Given the description of an element on the screen output the (x, y) to click on. 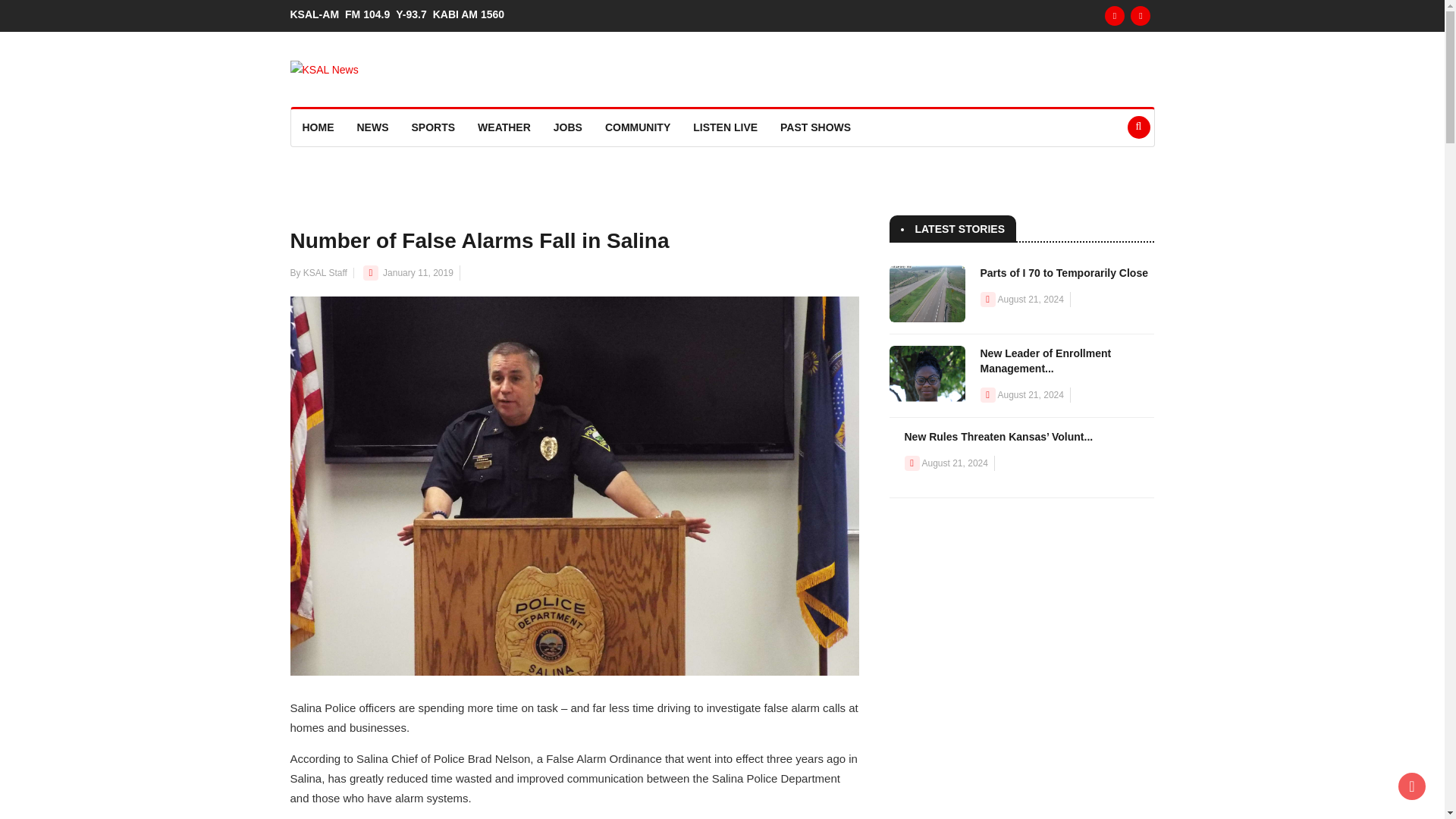
SPORTS (433, 127)
NEWS (373, 127)
Back to Top (1411, 786)
KABI AM 1560 (471, 13)
COMMUNITY (637, 127)
Facebook (1114, 15)
FM 104.9 (370, 13)
WEATHER (503, 127)
Twitter (1140, 15)
KSAL-AM (317, 13)
